Given the description of an element on the screen output the (x, y) to click on. 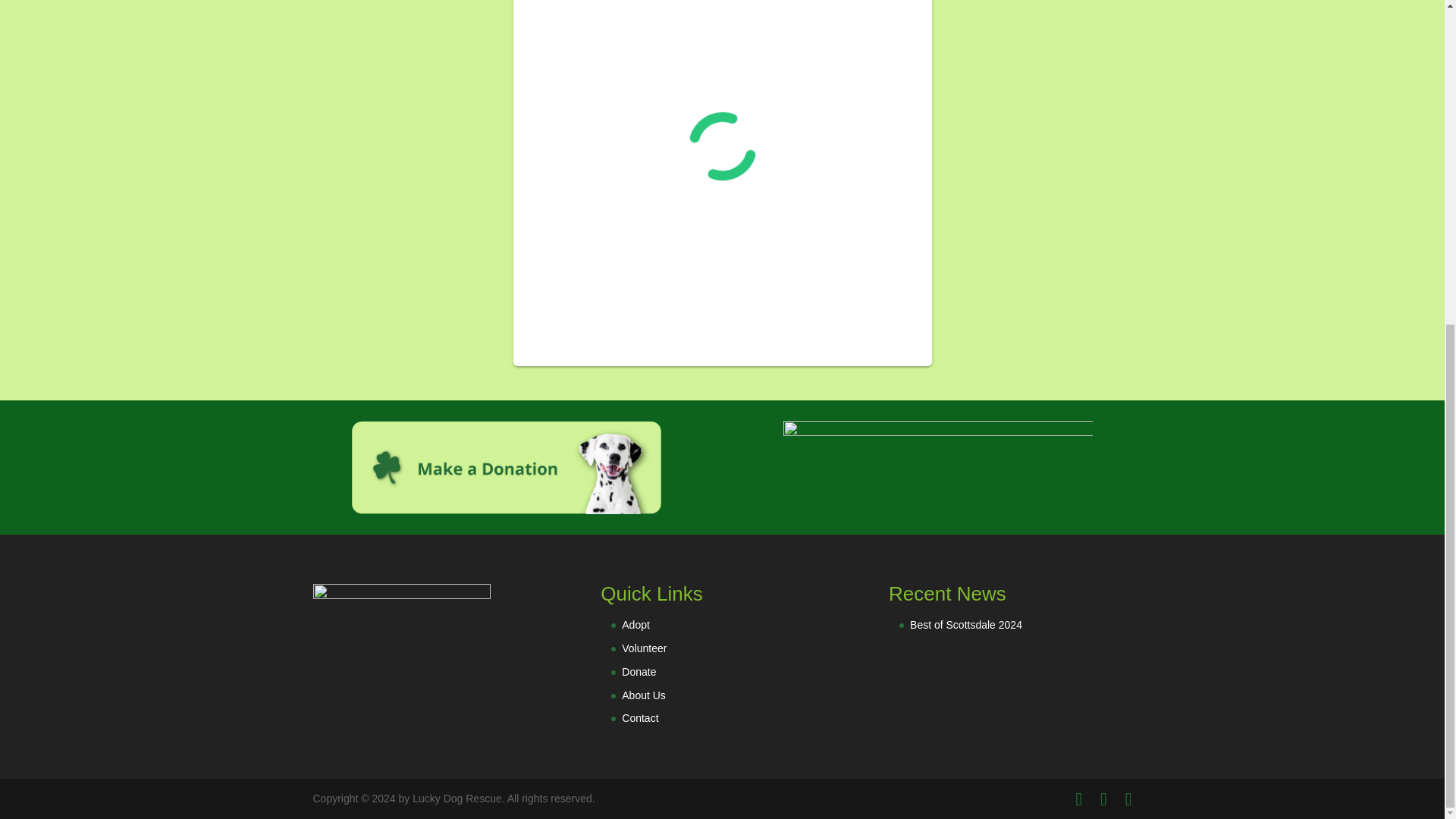
Contact (639, 717)
Adopt (635, 624)
Donate (638, 671)
Volunteer (643, 648)
About Us (643, 695)
donate-cta-02 (506, 467)
call-to-action-03 (938, 466)
Best of Scottsdale 2024 (966, 624)
